Given the description of an element on the screen output the (x, y) to click on. 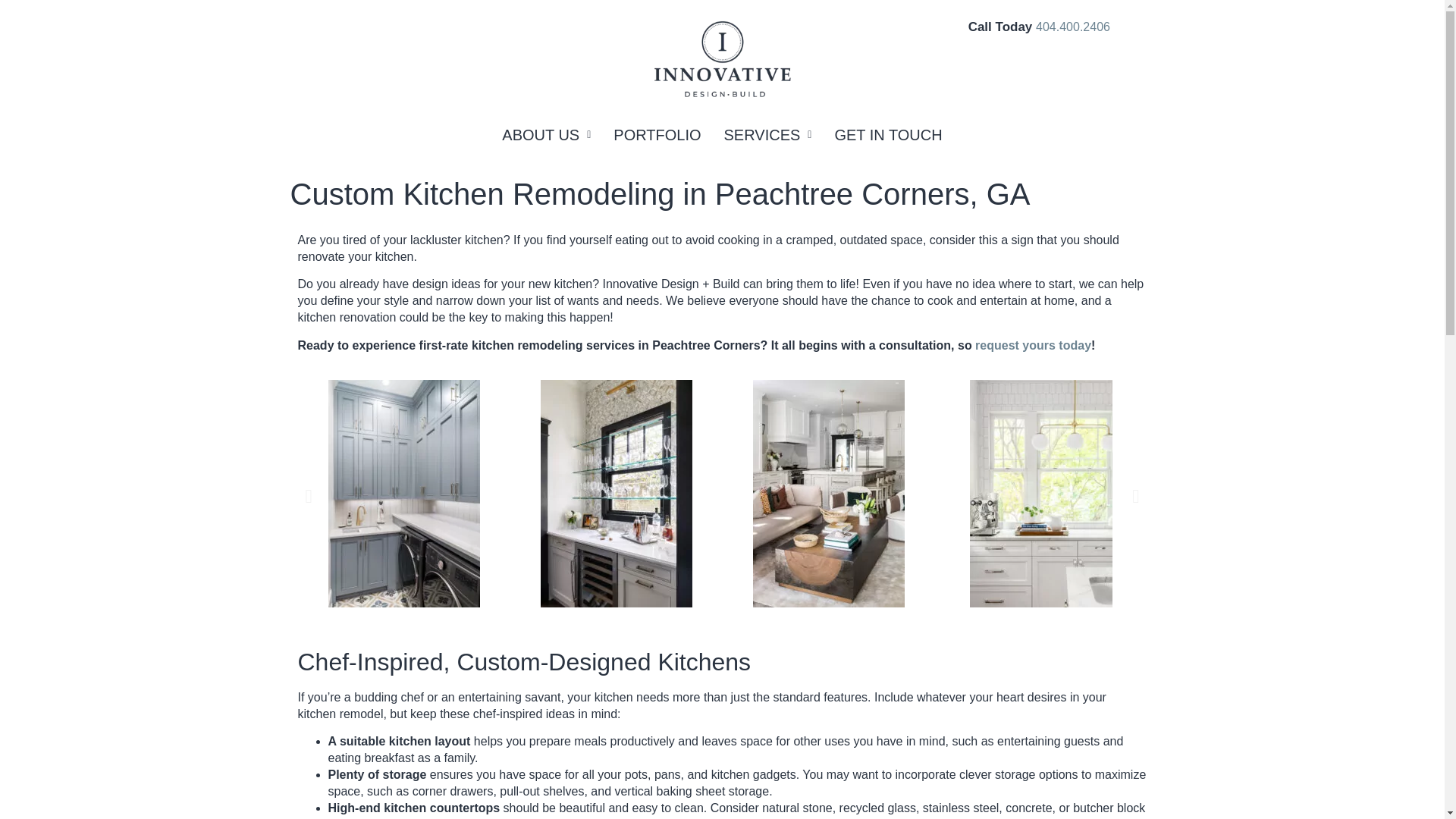
GET IN TOUCH (888, 135)
ABOUT US (546, 135)
PORTFOLIO (656, 135)
404.400.2406 (1072, 26)
SERVICES (767, 135)
